Given the description of an element on the screen output the (x, y) to click on. 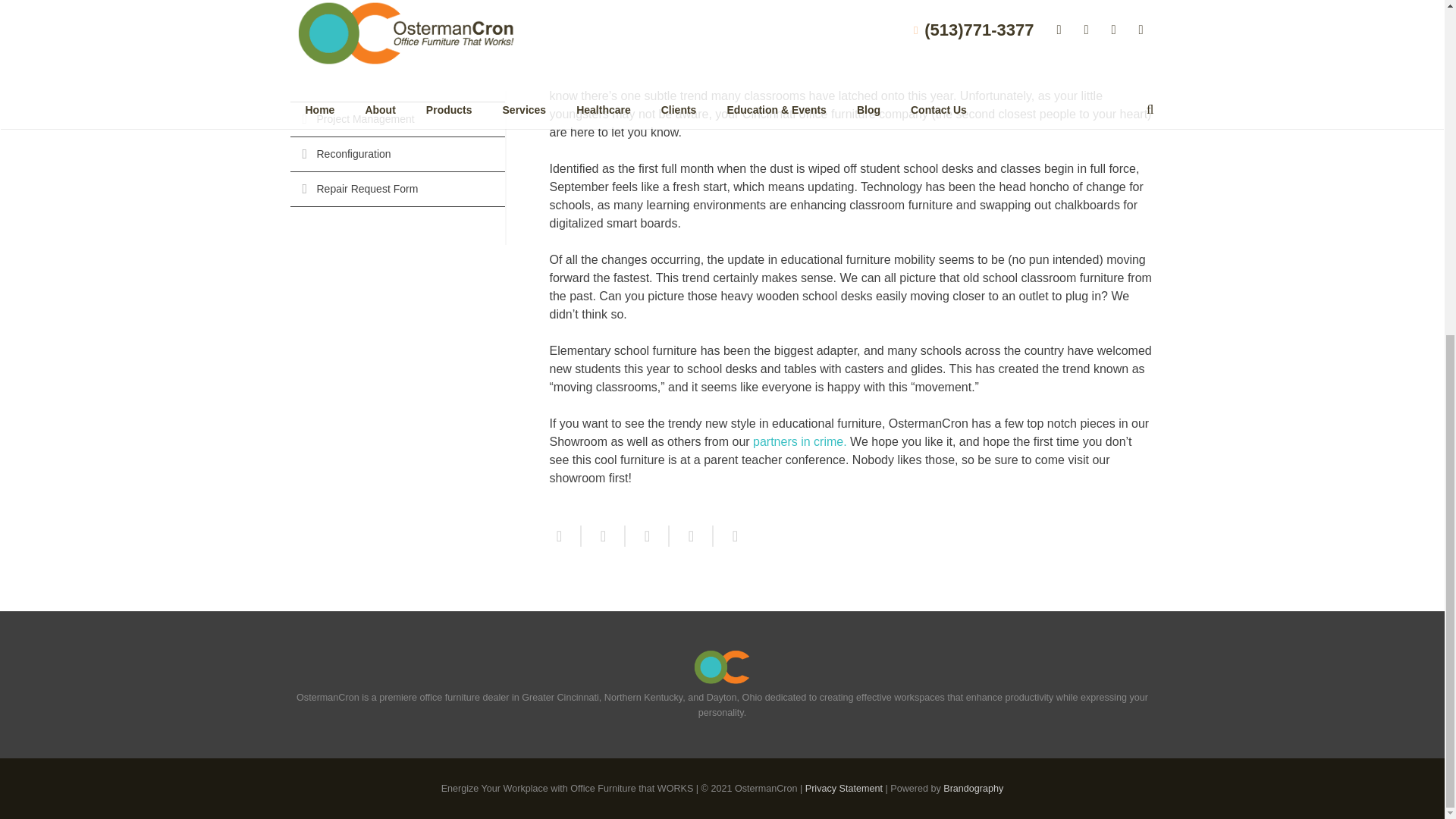
Tweet this (602, 536)
Share this (646, 536)
Share this (564, 536)
Pin this (728, 536)
Share this (690, 536)
